Given the description of an element on the screen output the (x, y) to click on. 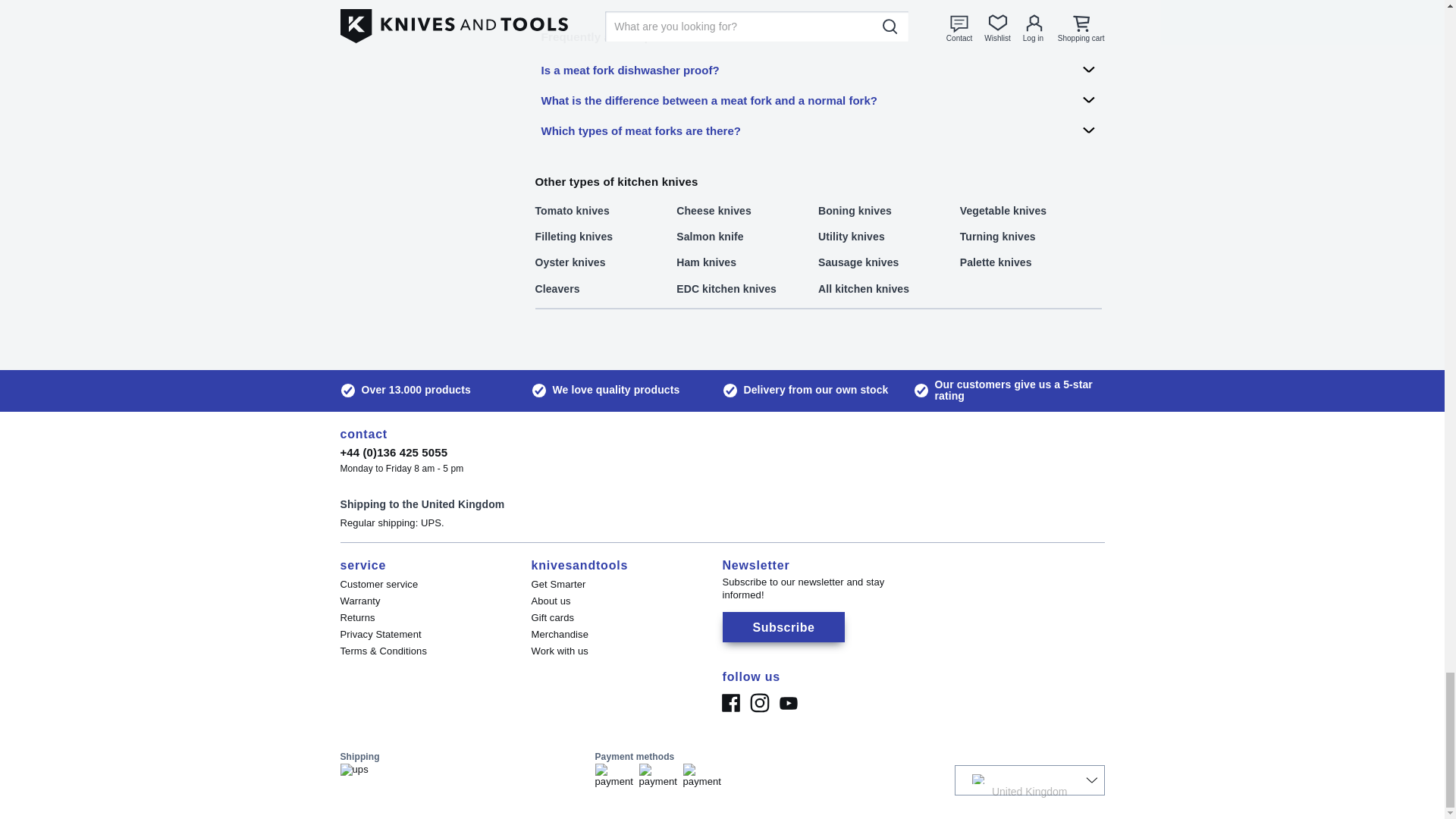
Instagram (758, 702)
Youtube (787, 702)
Facebook (730, 702)
